Given the description of an element on the screen output the (x, y) to click on. 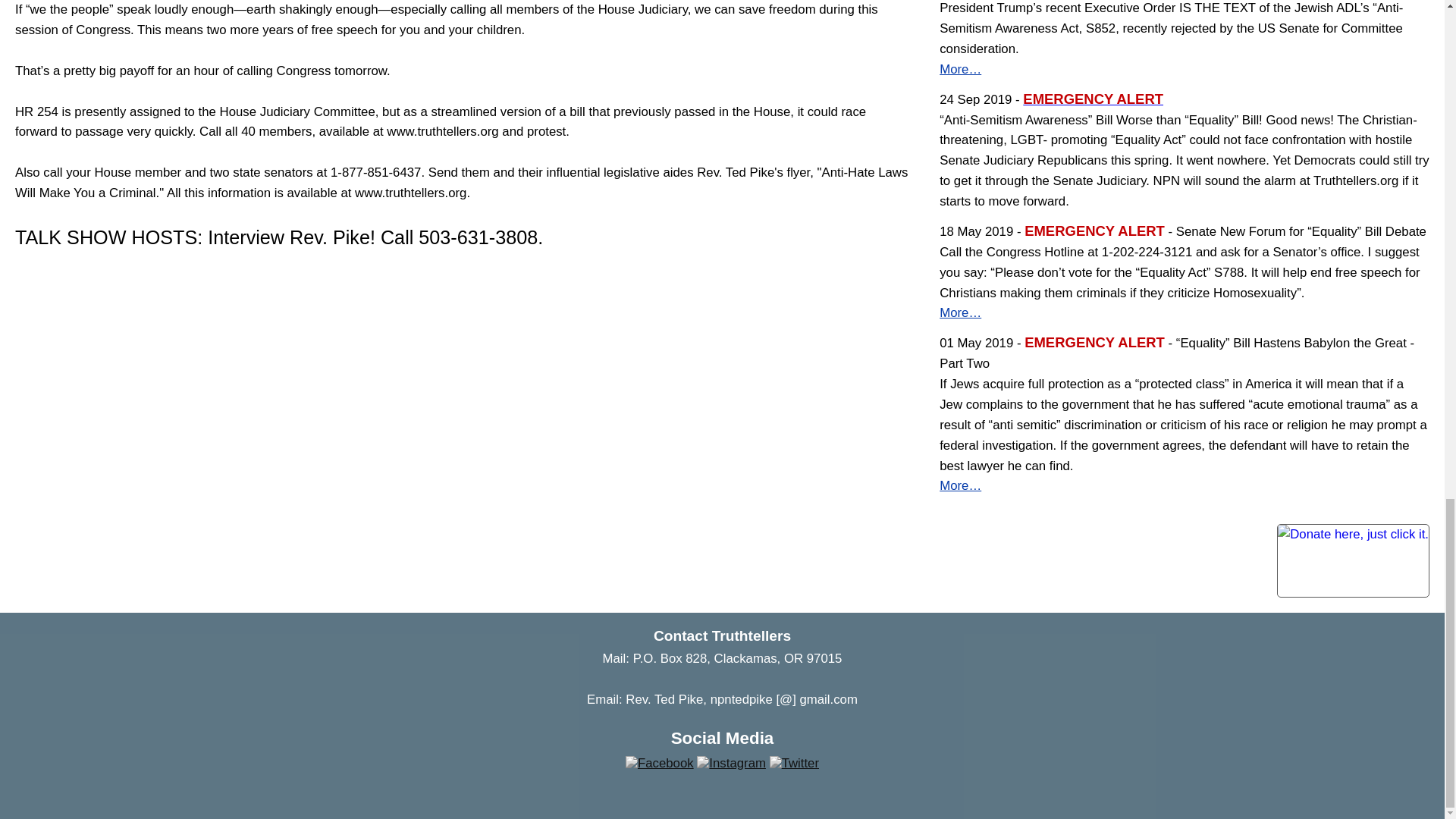
Click here to read the article. (960, 485)
See our tweets. (794, 762)
Click here to read the article. (960, 312)
See our instagram photos. (731, 762)
See our facebook page. (660, 762)
Click here to read the article. (960, 69)
Read the full article in PDF format. (1093, 99)
EMERGENCY ALERT (1093, 99)
